Given the description of an element on the screen output the (x, y) to click on. 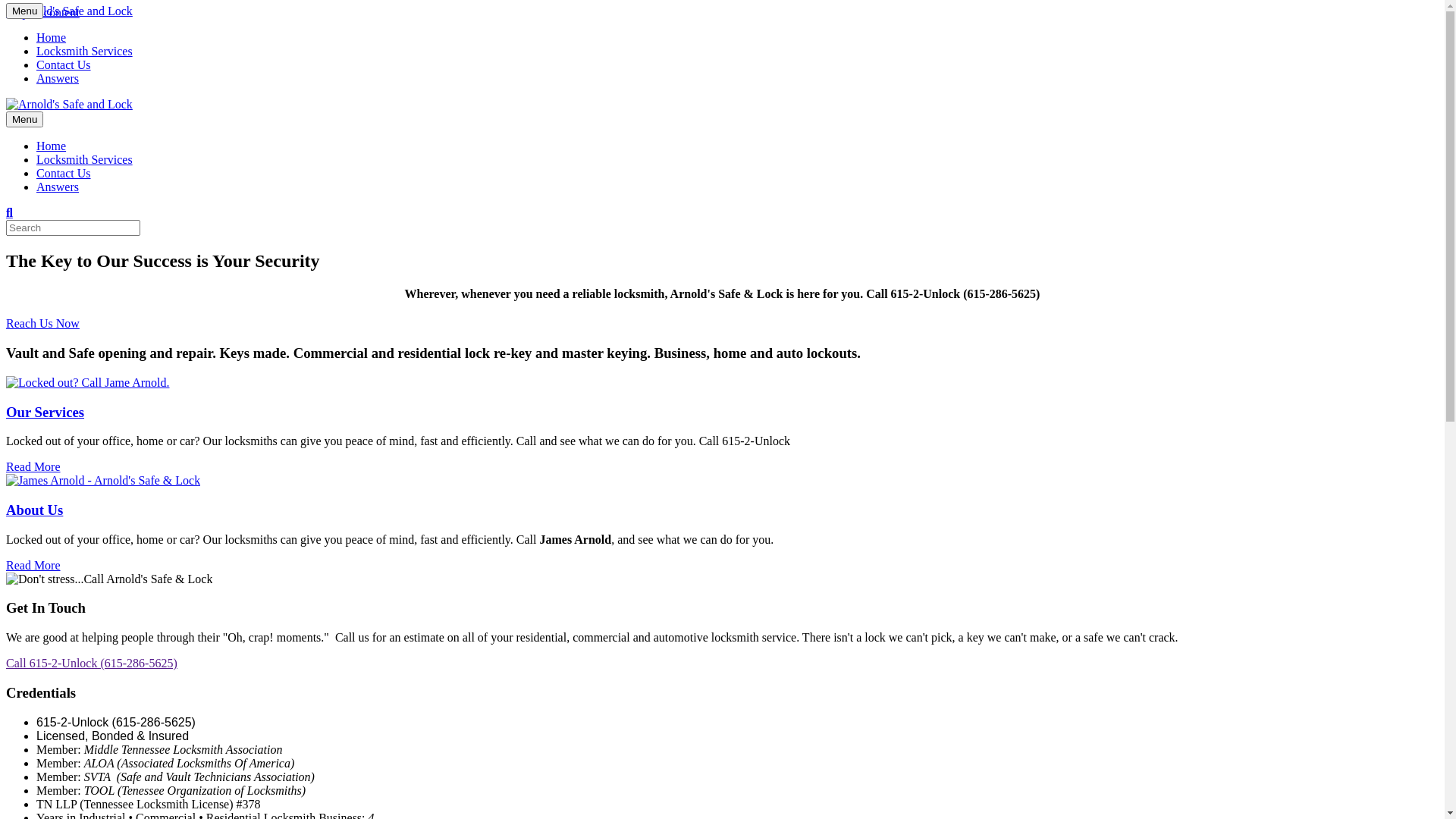
Menu Element type: text (24, 119)
Reach Us Now Element type: text (42, 322)
Locksmith Services Element type: text (84, 159)
James Arnold - Arnold's Safe & Lock Element type: hover (103, 480)
Contact Us Element type: text (63, 64)
Don't stress...Call Arnold's Safe & Lock Element type: hover (109, 579)
Home Element type: text (50, 37)
Locked out? Call Jame Arnold. Element type: hover (87, 382)
Menu Element type: text (24, 10)
Answers Element type: text (57, 186)
Home Element type: text (50, 145)
Locksmith Services Element type: text (84, 50)
Read More Element type: text (33, 466)
Contact Us Element type: text (63, 172)
Skip to content Element type: text (42, 12)
About Us Element type: text (34, 509)
Type and press Enter to search. Element type: hover (722, 227)
Read More Element type: text (33, 564)
Answers Element type: text (57, 78)
Call 615-2-Unlock (615-286-5625) Element type: text (91, 662)
Our Services Element type: text (45, 412)
